Given the description of an element on the screen output the (x, y) to click on. 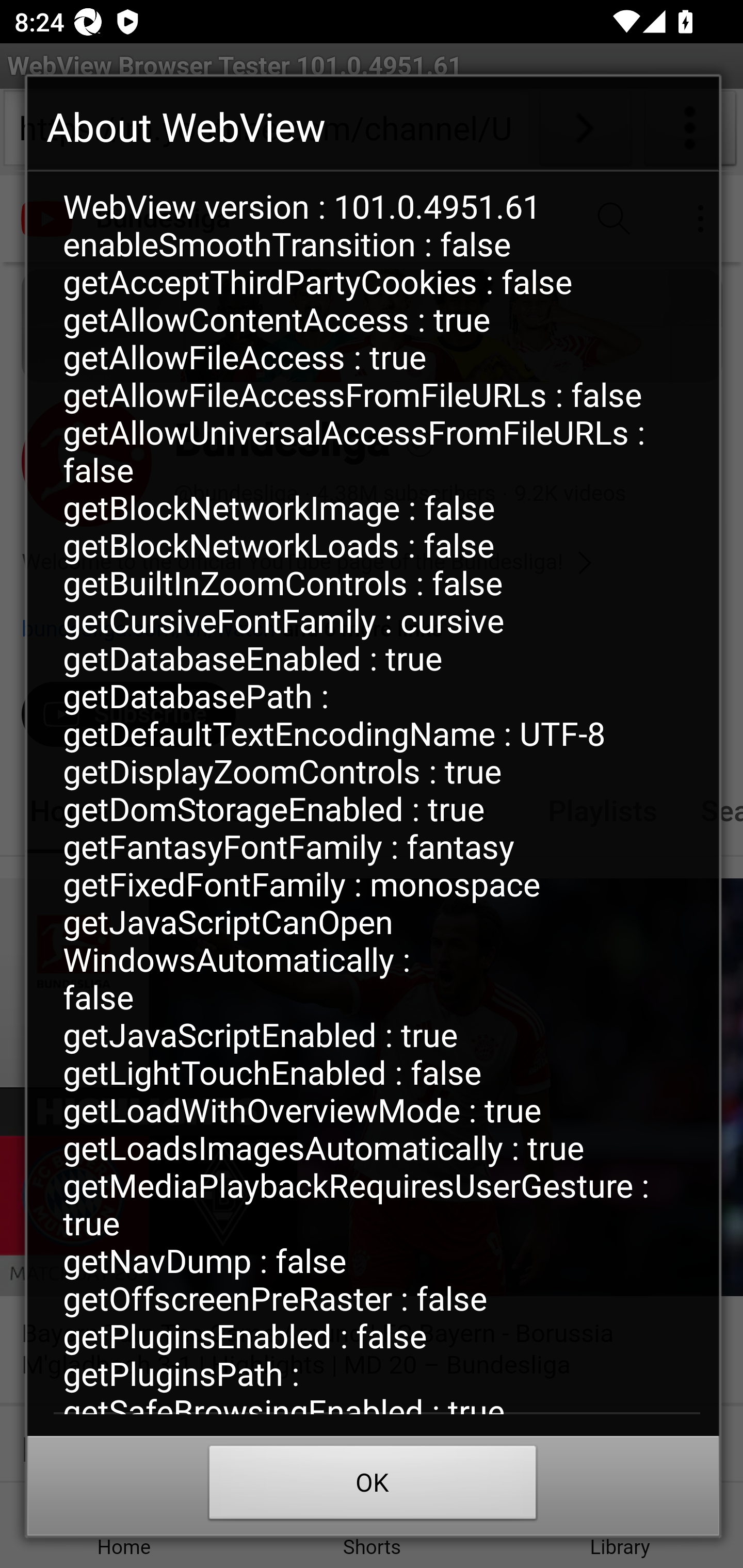
OK (372, 1486)
